Given the description of an element on the screen output the (x, y) to click on. 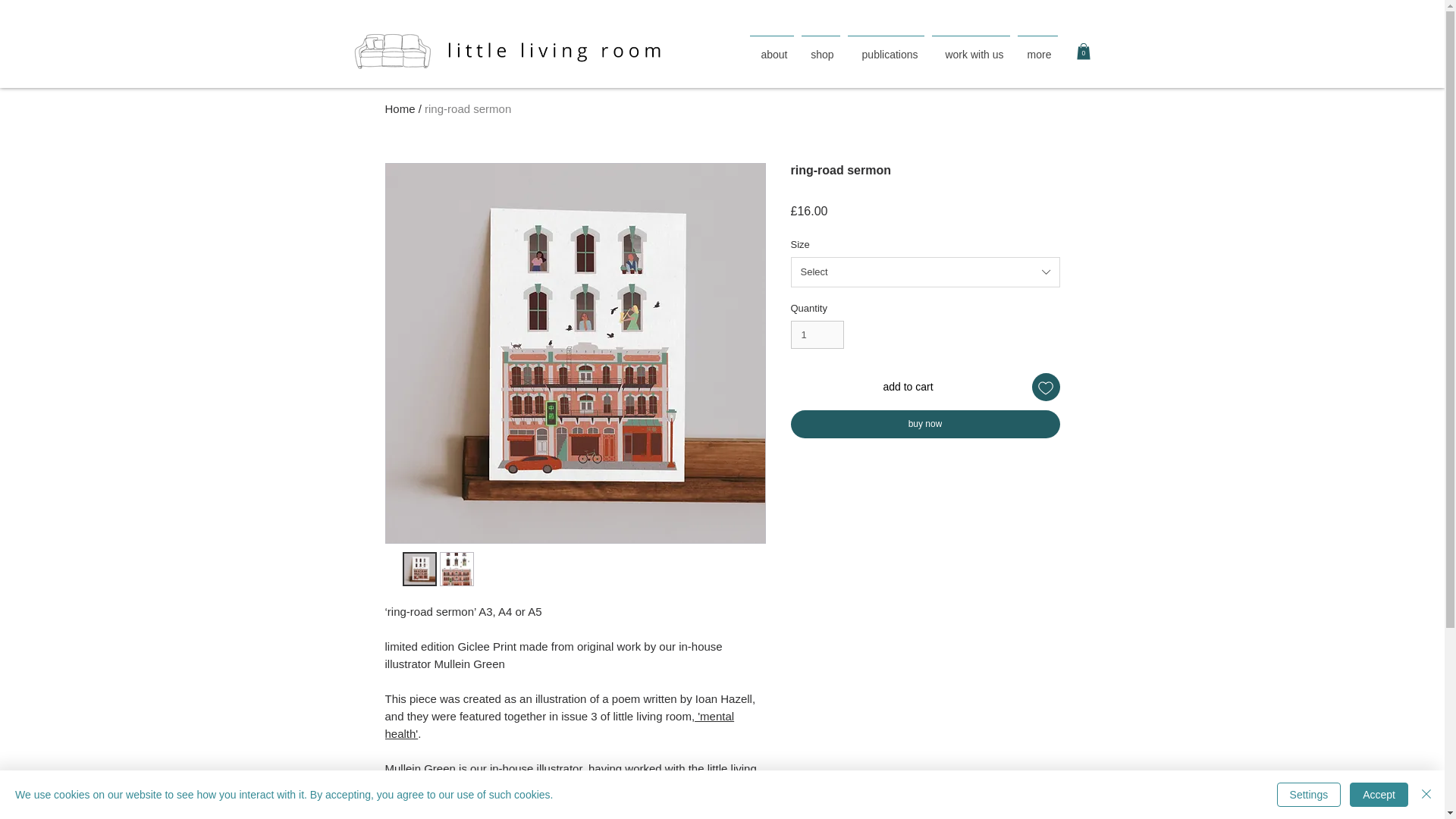
buy now (924, 424)
Home (399, 107)
Select (924, 272)
add to cart (907, 387)
publications (885, 47)
1 (817, 335)
Accept (1378, 794)
work with us (970, 47)
'mental health' (560, 725)
ring-road sermon (468, 107)
about (771, 47)
shop (820, 47)
